Given the description of an element on the screen output the (x, y) to click on. 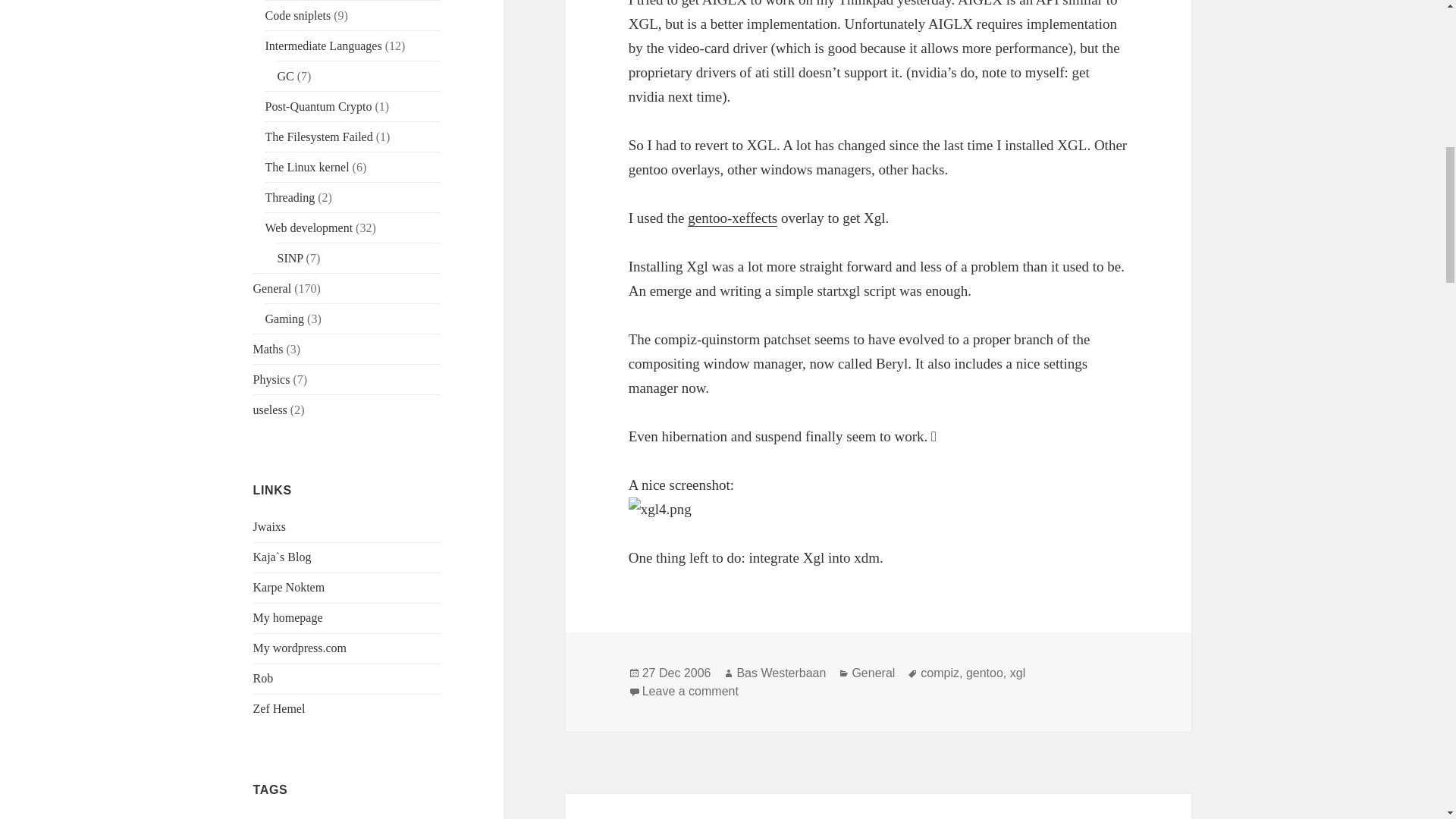
Zef Hemel (279, 707)
The Linux kernel (306, 166)
General (272, 287)
Threading (289, 196)
ASV Karpe Noktem, a great dutch student society (288, 586)
Maths (268, 349)
My homepage (288, 617)
Post-Quantum Crypto (318, 106)
Jwaixs (269, 526)
The Filesystem Failed (318, 136)
